Given the description of an element on the screen output the (x, y) to click on. 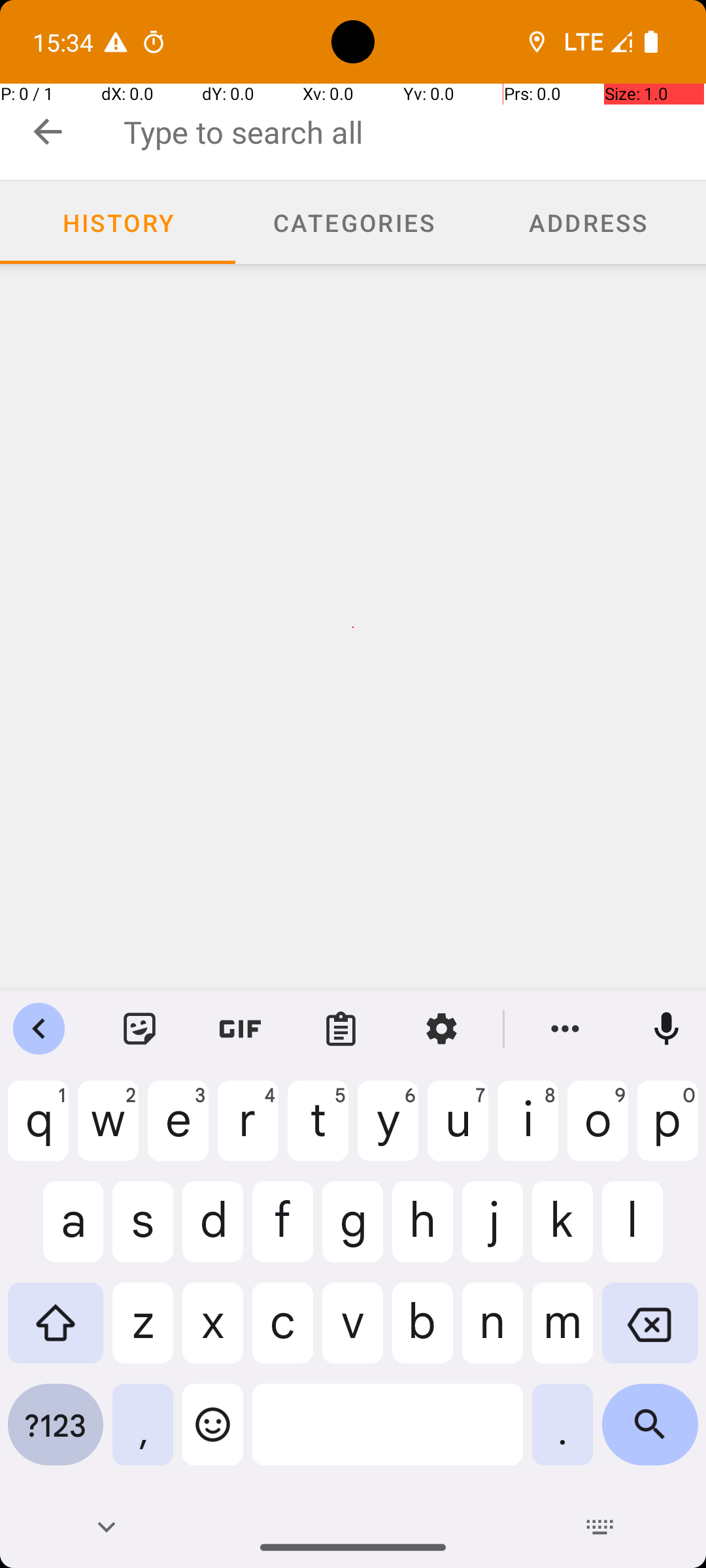
Type to search all Element type: android.widget.EditText (414, 131)
HISTORY Element type: android.widget.TextView (117, 222)
CATEGORIES Element type: android.widget.TextView (352, 222)
ADDRESS Element type: android.widget.TextView (587, 222)
